Given the description of an element on the screen output the (x, y) to click on. 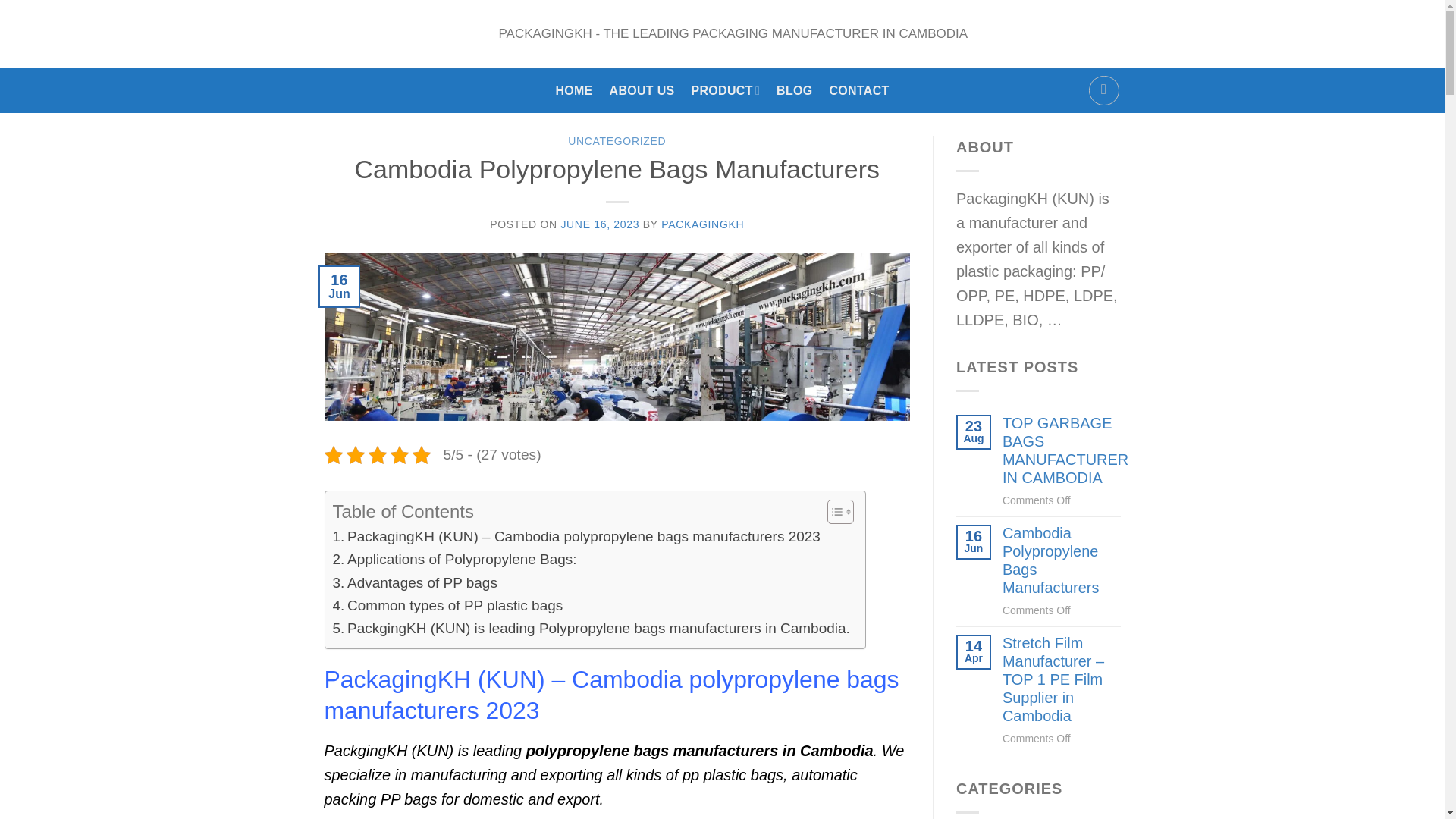
Advantages of PP bags (413, 582)
Common types of PP plastic bags (446, 605)
ABOUT US (642, 90)
Cambodia Polypropylene Bags Manufacturers (1062, 560)
Advantages of PP bags (413, 582)
TOP GARBAGE BAGS MANUFACTURER IN CAMBODIA (1065, 450)
CONTACT (859, 90)
PRODUCT (725, 90)
Applications of Polypropylene Bags: (453, 558)
UNCATEGORIZED (616, 141)
